Given the description of an element on the screen output the (x, y) to click on. 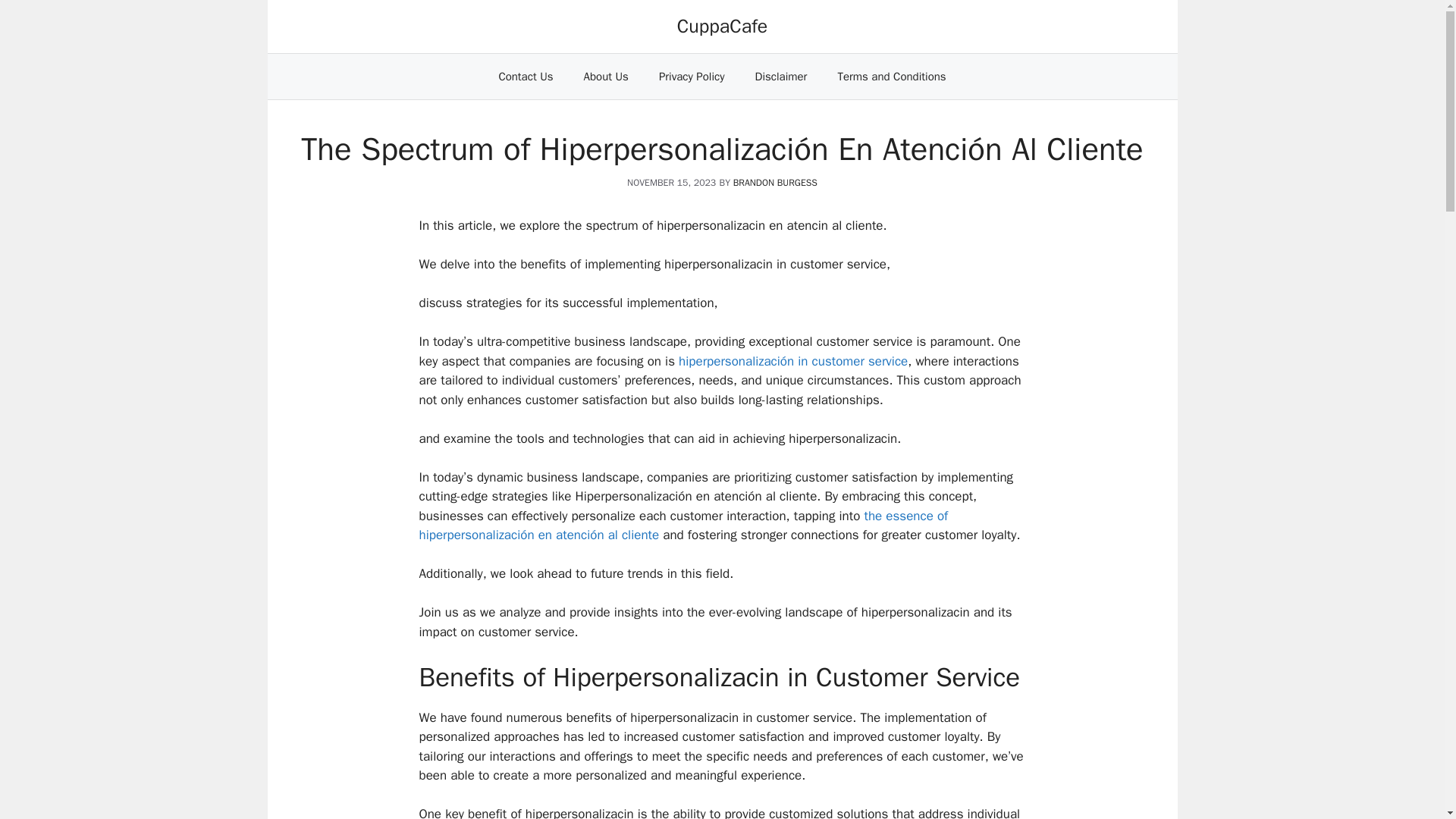
View all posts by Brandon Burgess (774, 182)
BRANDON BURGESS (774, 182)
CuppaCafe (722, 25)
Disclaimer (780, 76)
About Us (606, 76)
Privacy Policy (691, 76)
Contact Us (525, 76)
Terms and Conditions (891, 76)
